Given the description of an element on the screen output the (x, y) to click on. 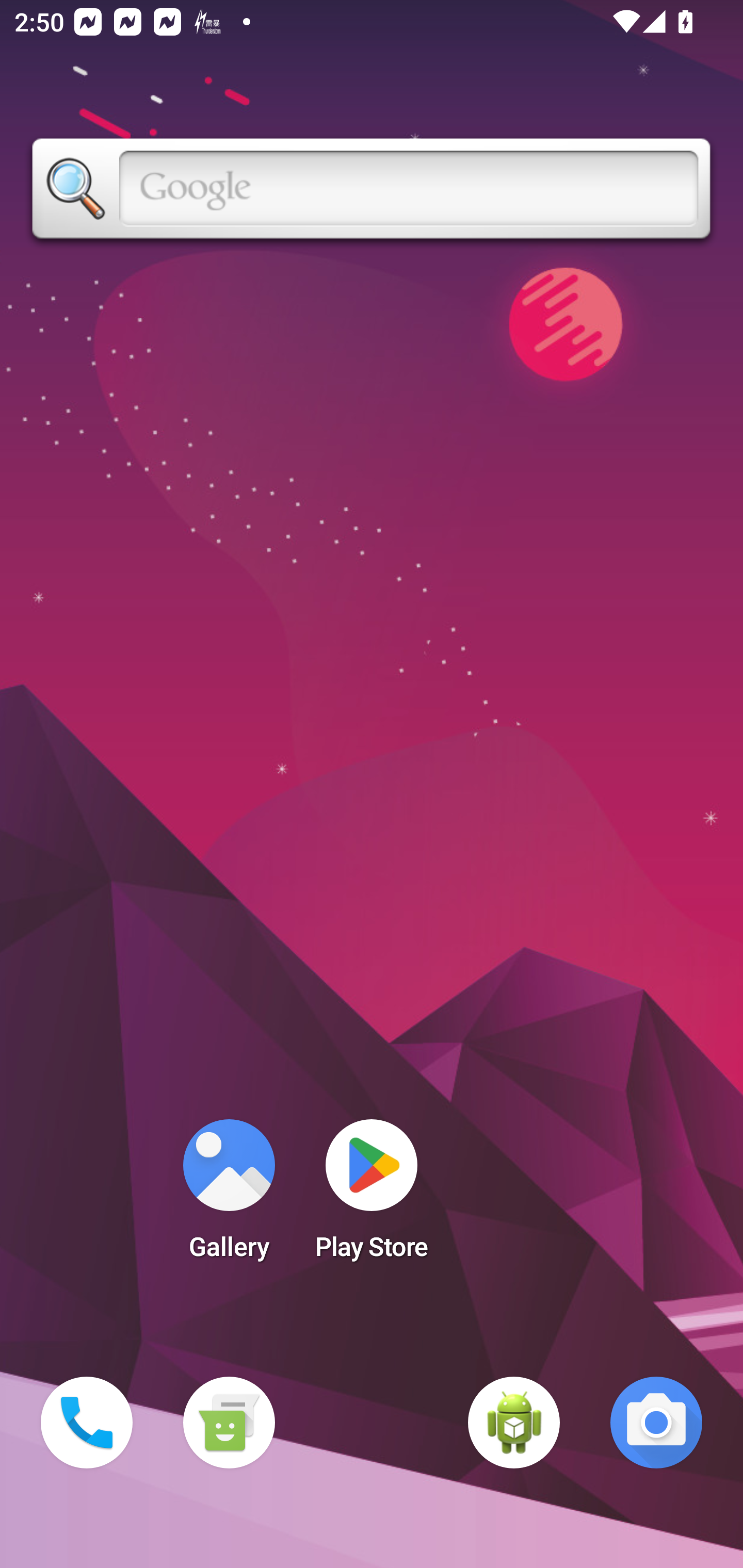
Gallery (228, 1195)
Play Store (371, 1195)
Phone (86, 1422)
Messaging (228, 1422)
WebView Browser Tester (513, 1422)
Camera (656, 1422)
